Given the description of an element on the screen output the (x, y) to click on. 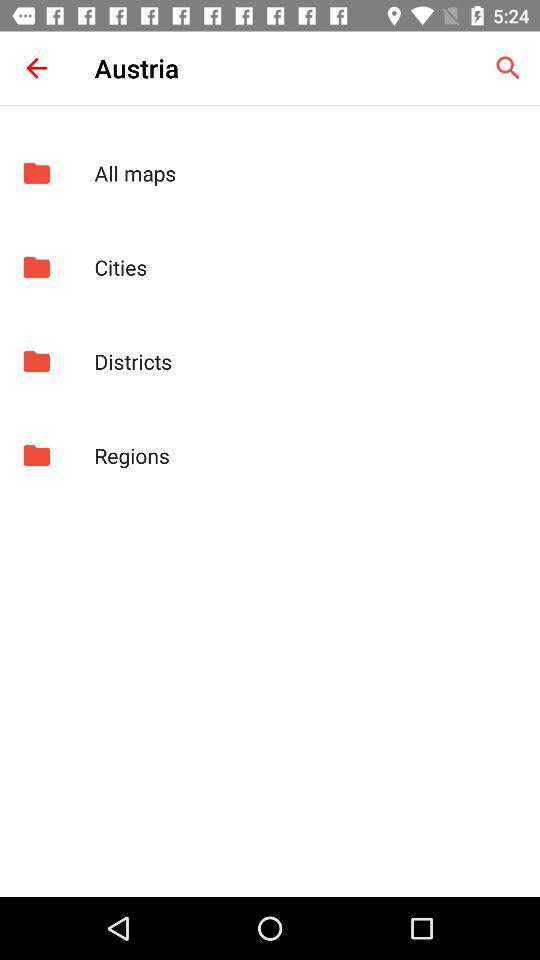
turn off app next to the cities (36, 267)
